Given the description of an element on the screen output the (x, y) to click on. 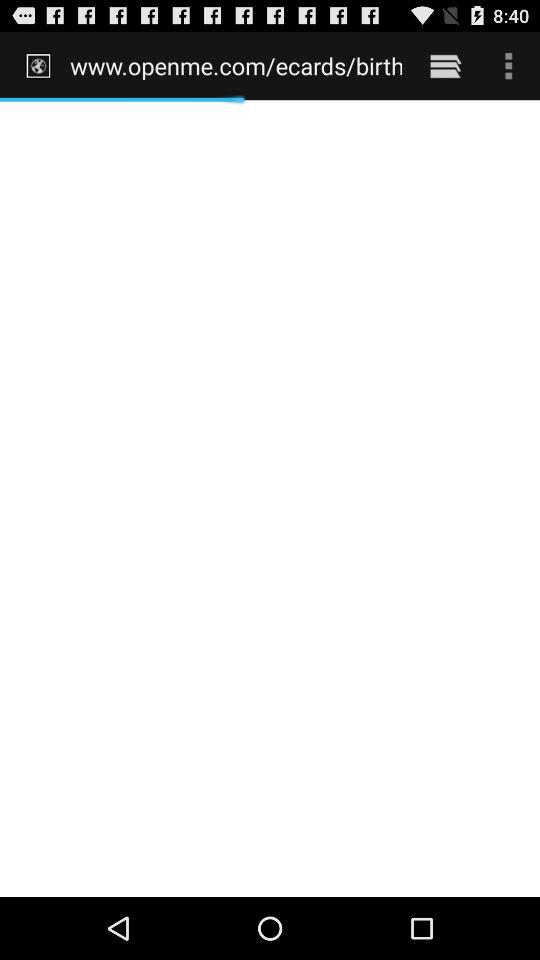
turn off icon below the www openme com (270, 497)
